Given the description of an element on the screen output the (x, y) to click on. 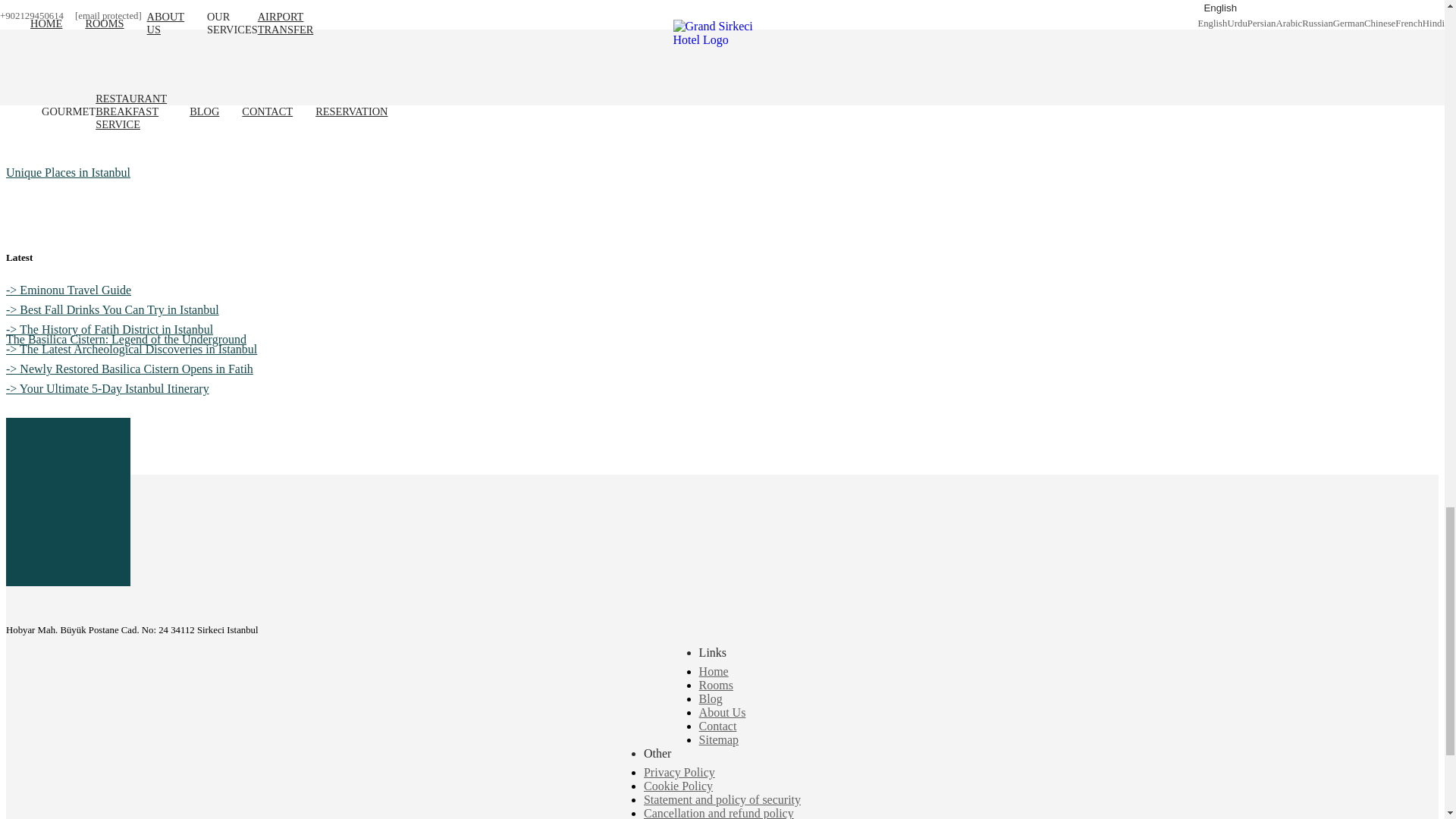
Sitemap (718, 739)
